Given the description of an element on the screen output the (x, y) to click on. 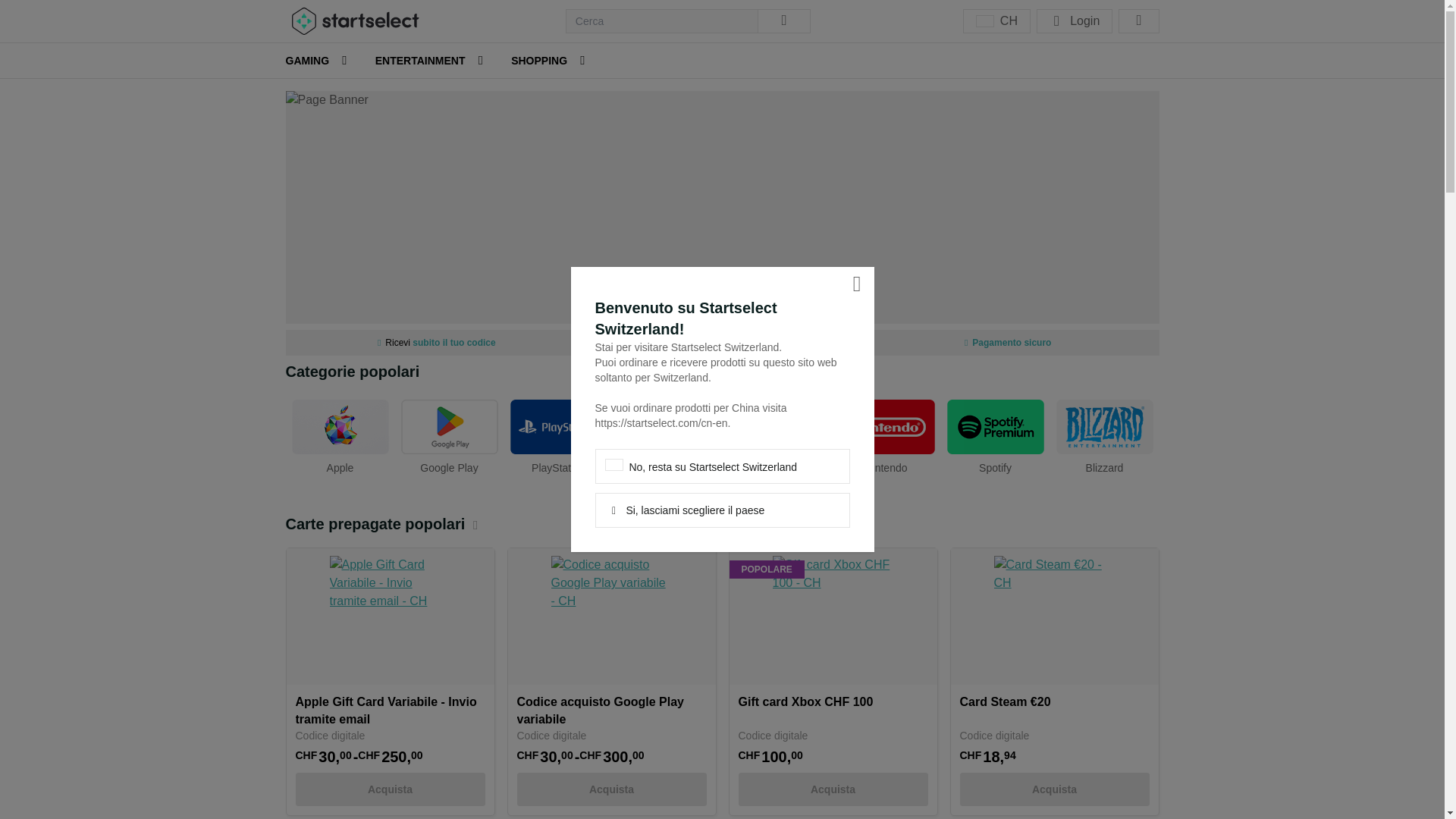
xbox (776, 434)
Entertainment (421, 60)
Steam (667, 434)
playstation (558, 434)
Shopping (540, 60)
Vai al carrello (1138, 21)
